Given the description of an element on the screen output the (x, y) to click on. 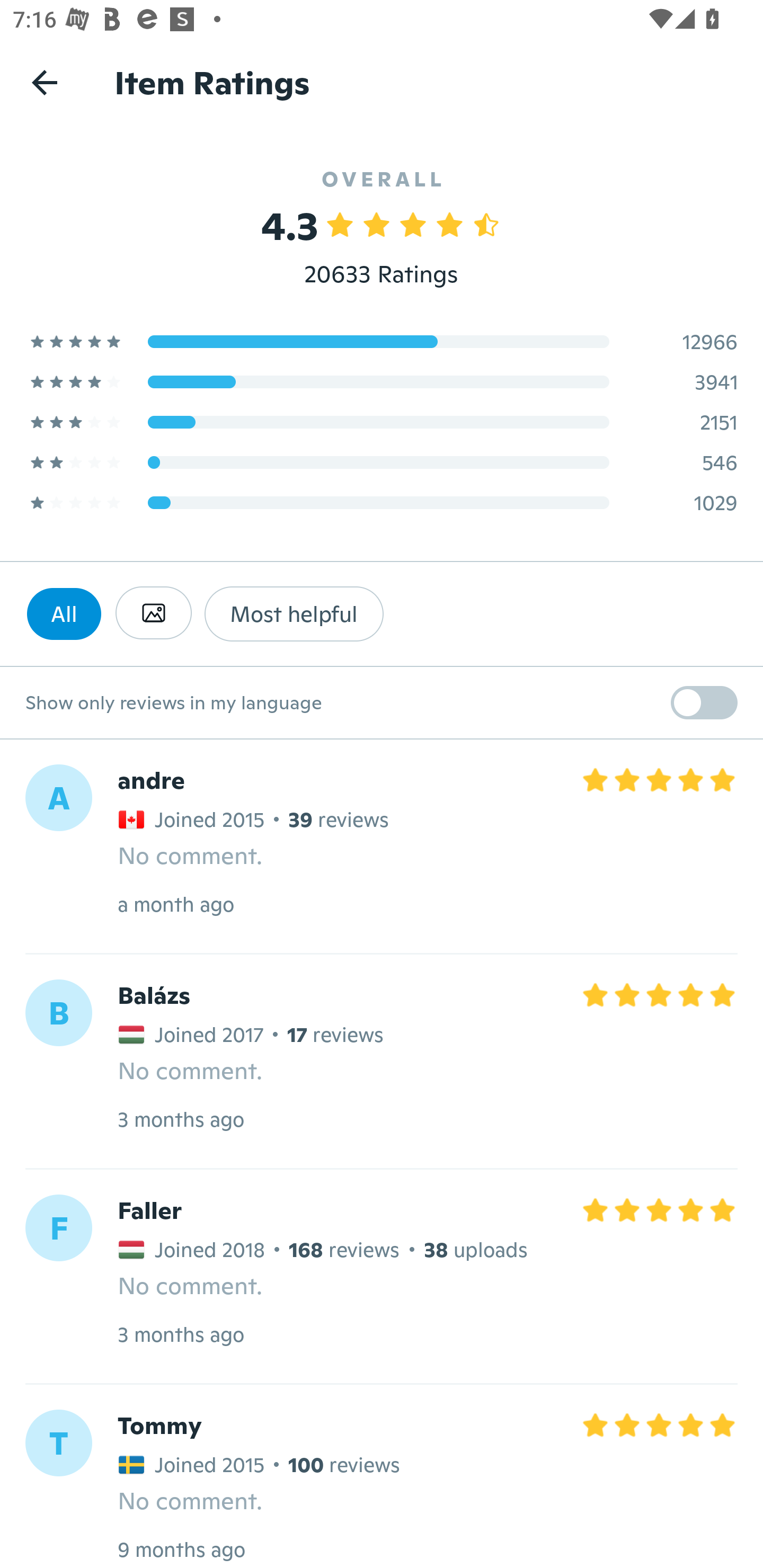
Navigate up (44, 82)
5 Star Rating 12966 (381, 341)
4 Star Rating 3941 (381, 381)
3 Star Rating 2151 (381, 421)
2 Star Rating 546 (381, 462)
1 Star Rating 1029 (381, 502)
All (64, 613)
Has photo (153, 612)
Most helpful (293, 613)
Show only reviews in my language (381, 702)
A (58, 798)
andre (150, 780)
a month ago (175, 903)
B (58, 1012)
Balázs (153, 995)
3 months ago (180, 1119)
F (58, 1227)
Faller (149, 1210)
3 months ago (180, 1334)
T (58, 1443)
Tommy (159, 1424)
9 months ago (181, 1549)
